Given the description of an element on the screen output the (x, y) to click on. 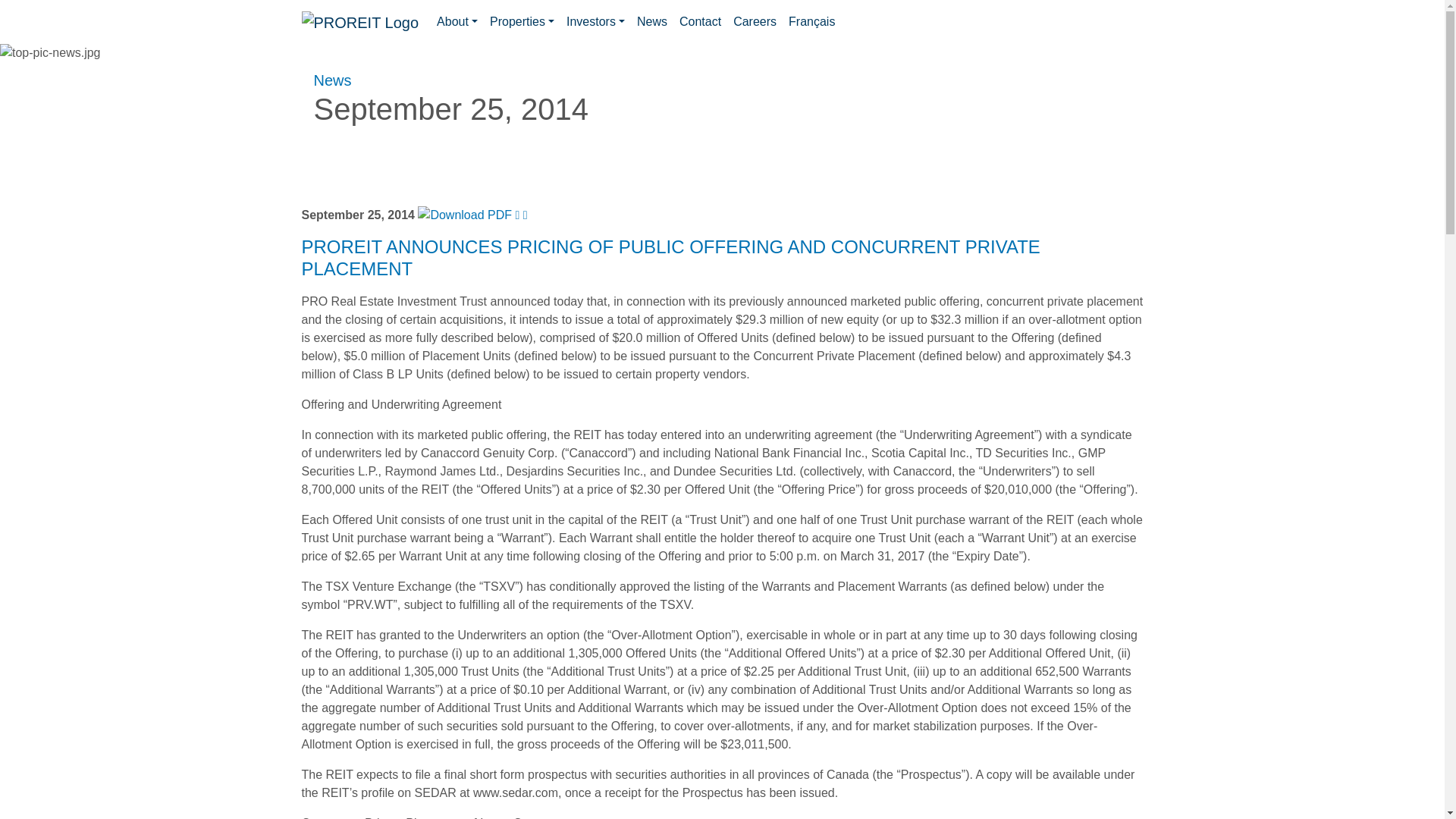
News (333, 80)
Contact (699, 21)
Properties (521, 21)
Careers (754, 21)
PROREIT Logo (360, 22)
About (456, 21)
Download PDF (464, 215)
News (651, 21)
Investors (595, 21)
